Given the description of an element on the screen output the (x, y) to click on. 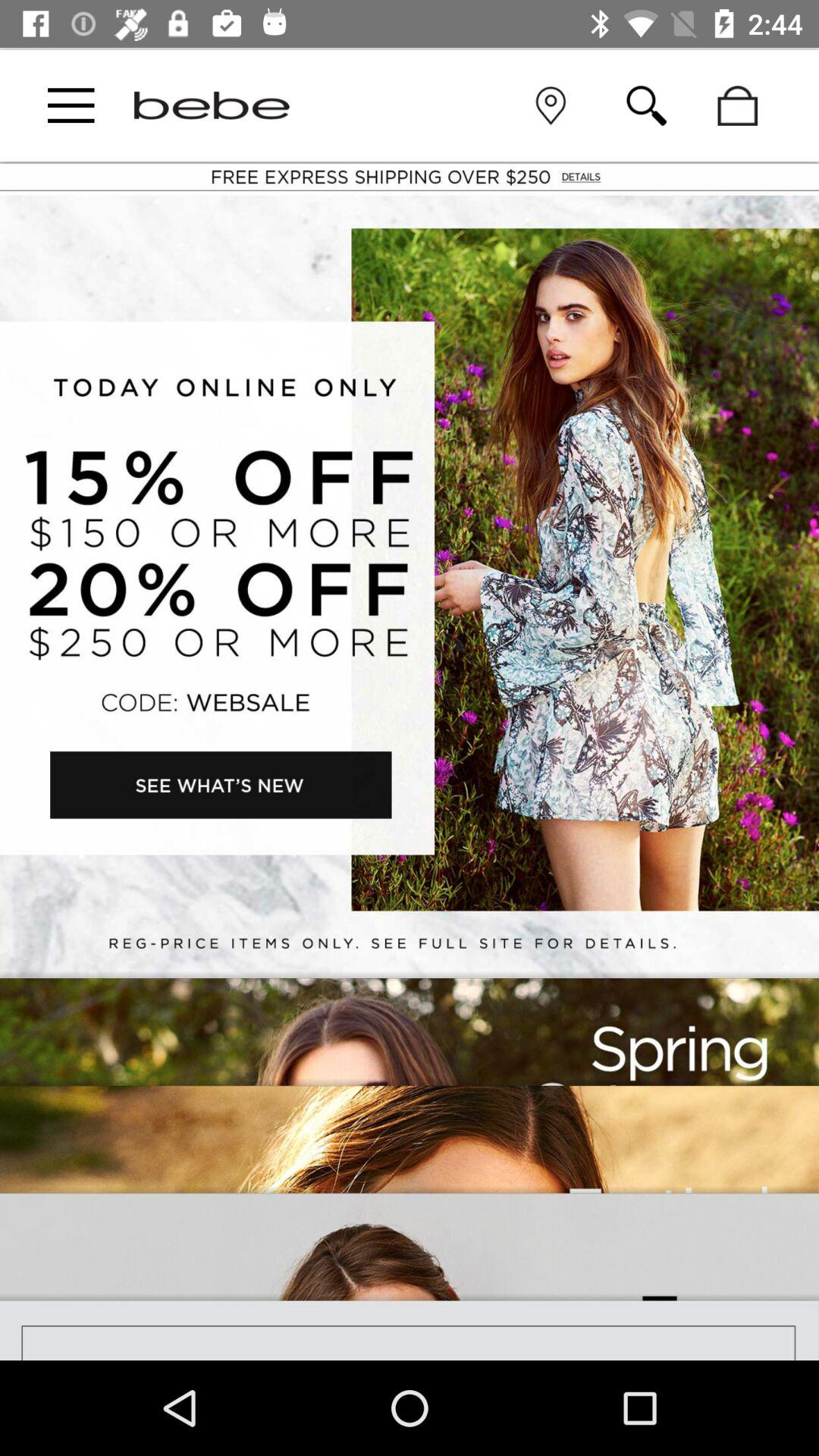
open app menu (70, 105)
